Given the description of an element on the screen output the (x, y) to click on. 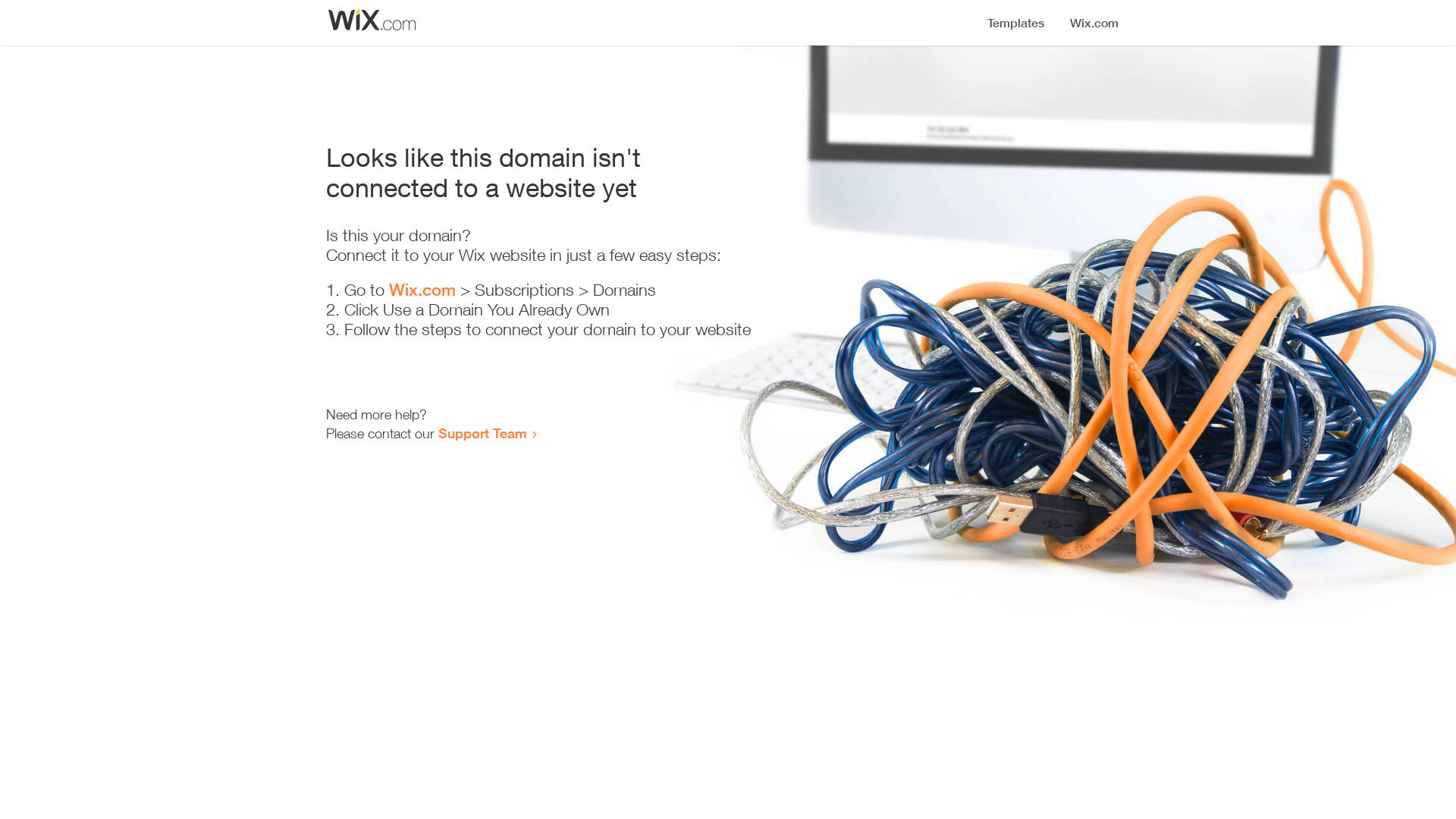
Wix.com Element type: text (422, 289)
Support Team Element type: text (482, 432)
